Given the description of an element on the screen output the (x, y) to click on. 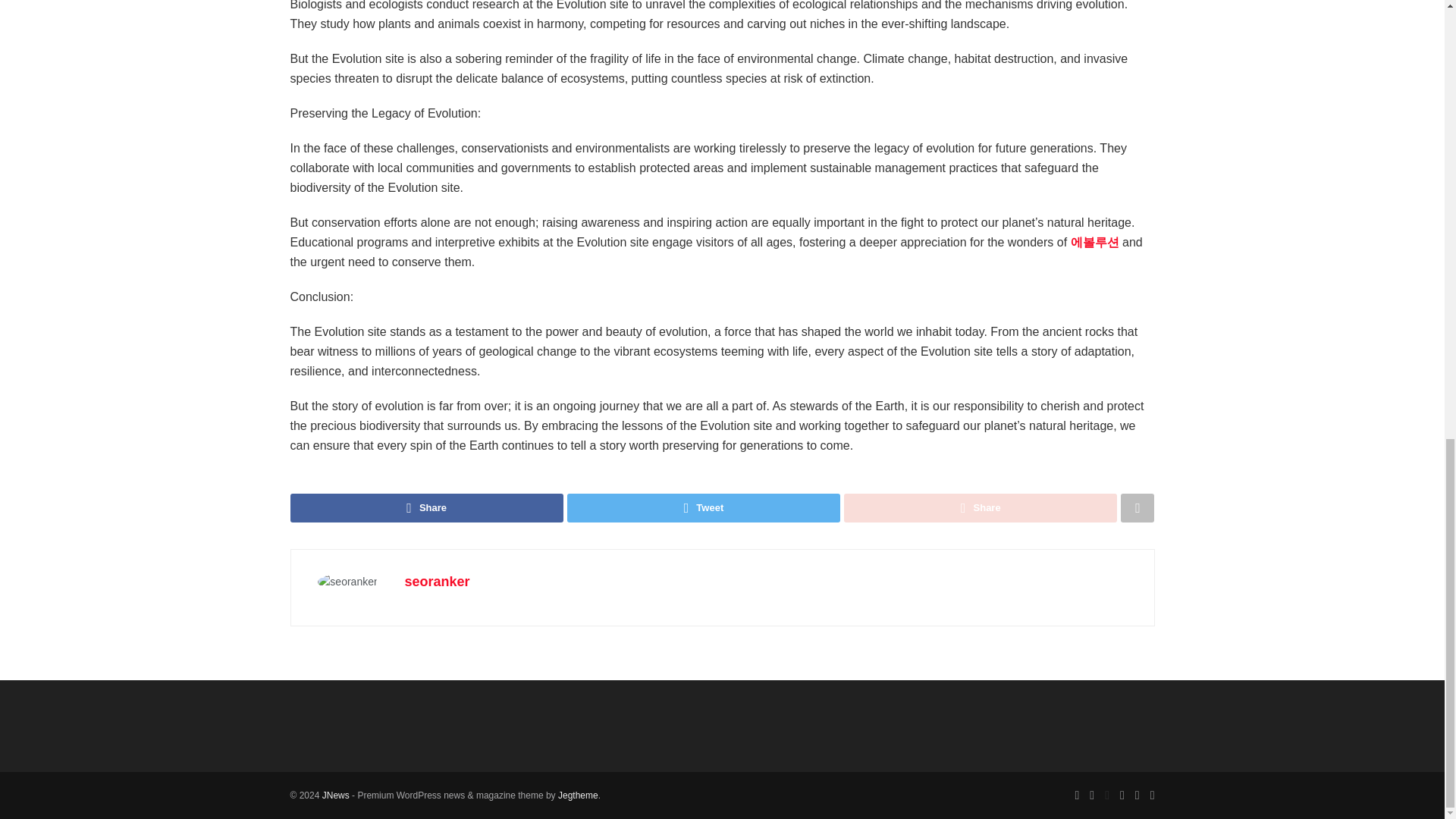
Jegtheme (577, 795)
